Given the description of an element on the screen output the (x, y) to click on. 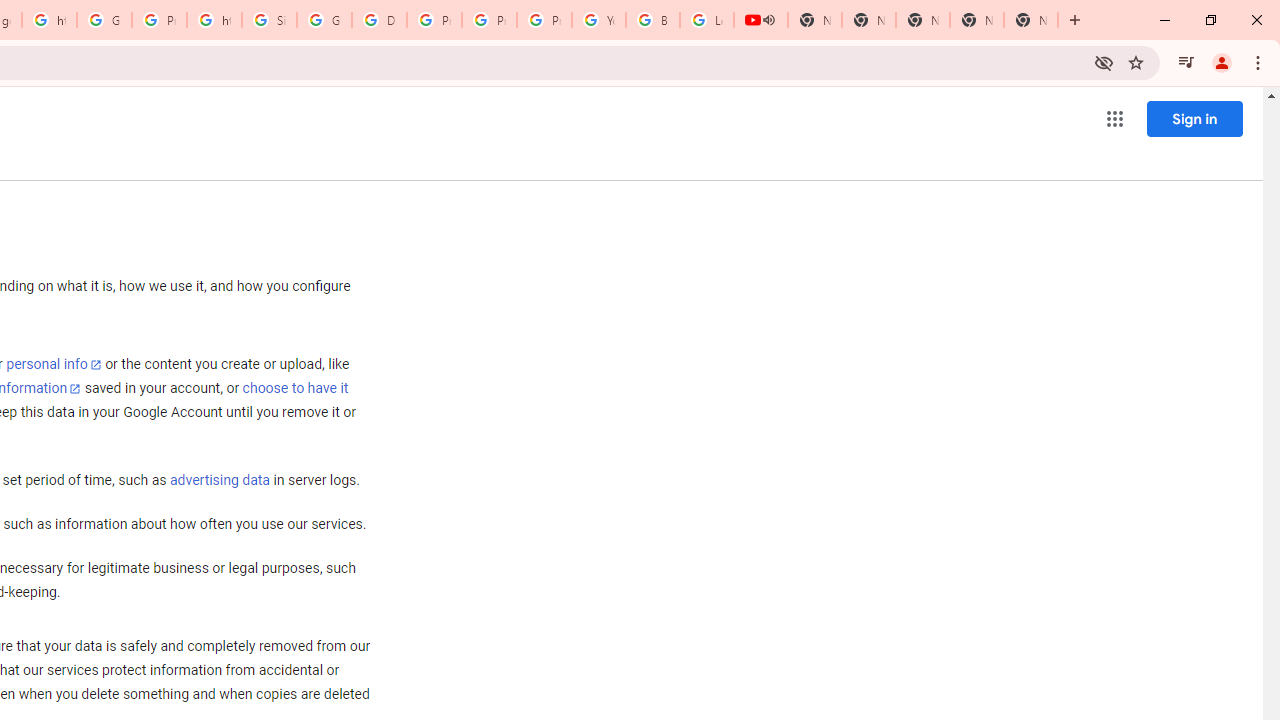
Privacy Help Center - Policies Help (489, 20)
advertising data (219, 481)
Privacy Help Center - Policies Help (434, 20)
https://scholar.google.com/ (48, 20)
YouTube (598, 20)
New Tab (1030, 20)
